Given the description of an element on the screen output the (x, y) to click on. 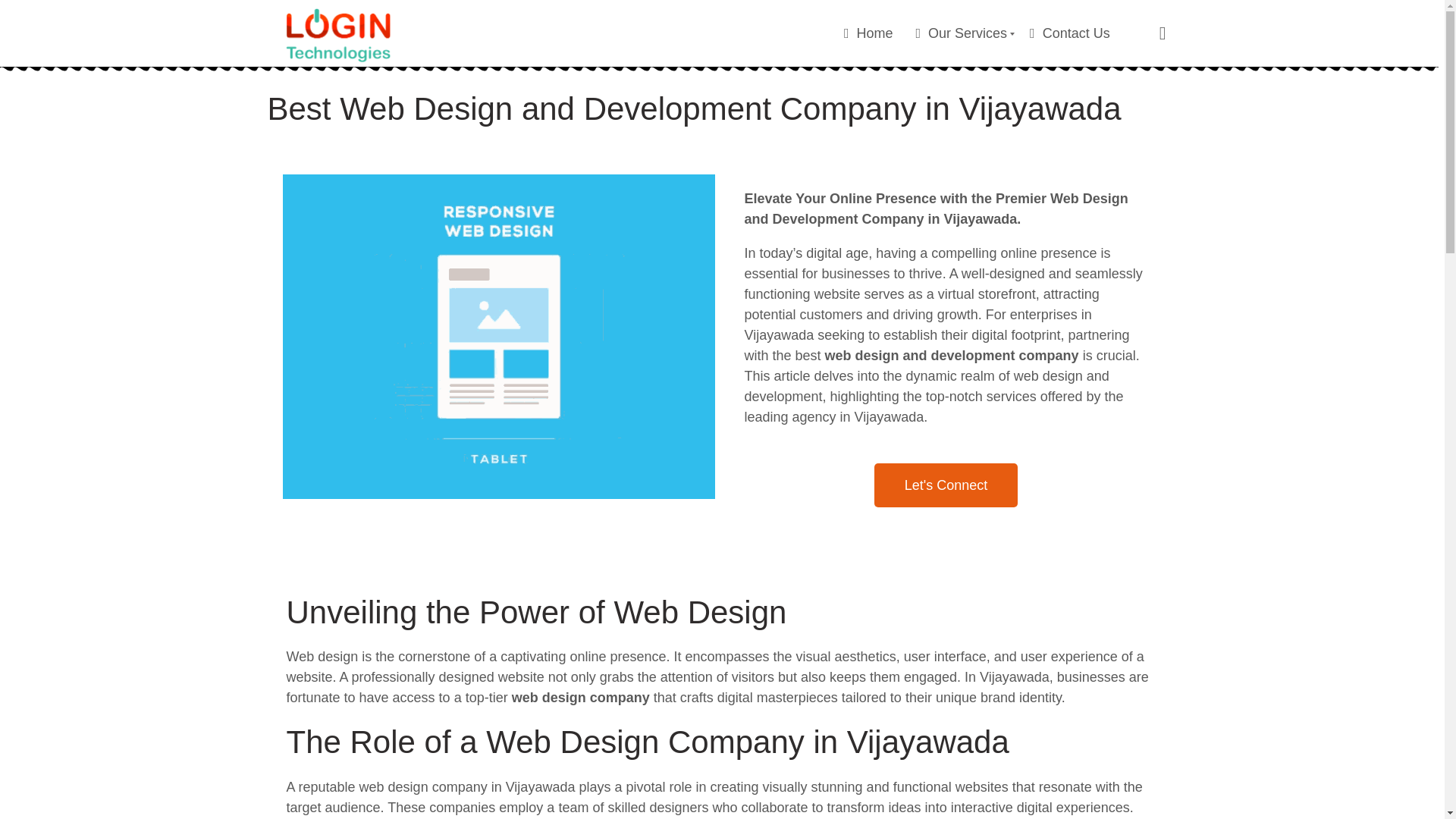
Home (868, 33)
Our Services (961, 33)
Let's Connect (722, 33)
Contact Us (946, 484)
